Given the description of an element on the screen output the (x, y) to click on. 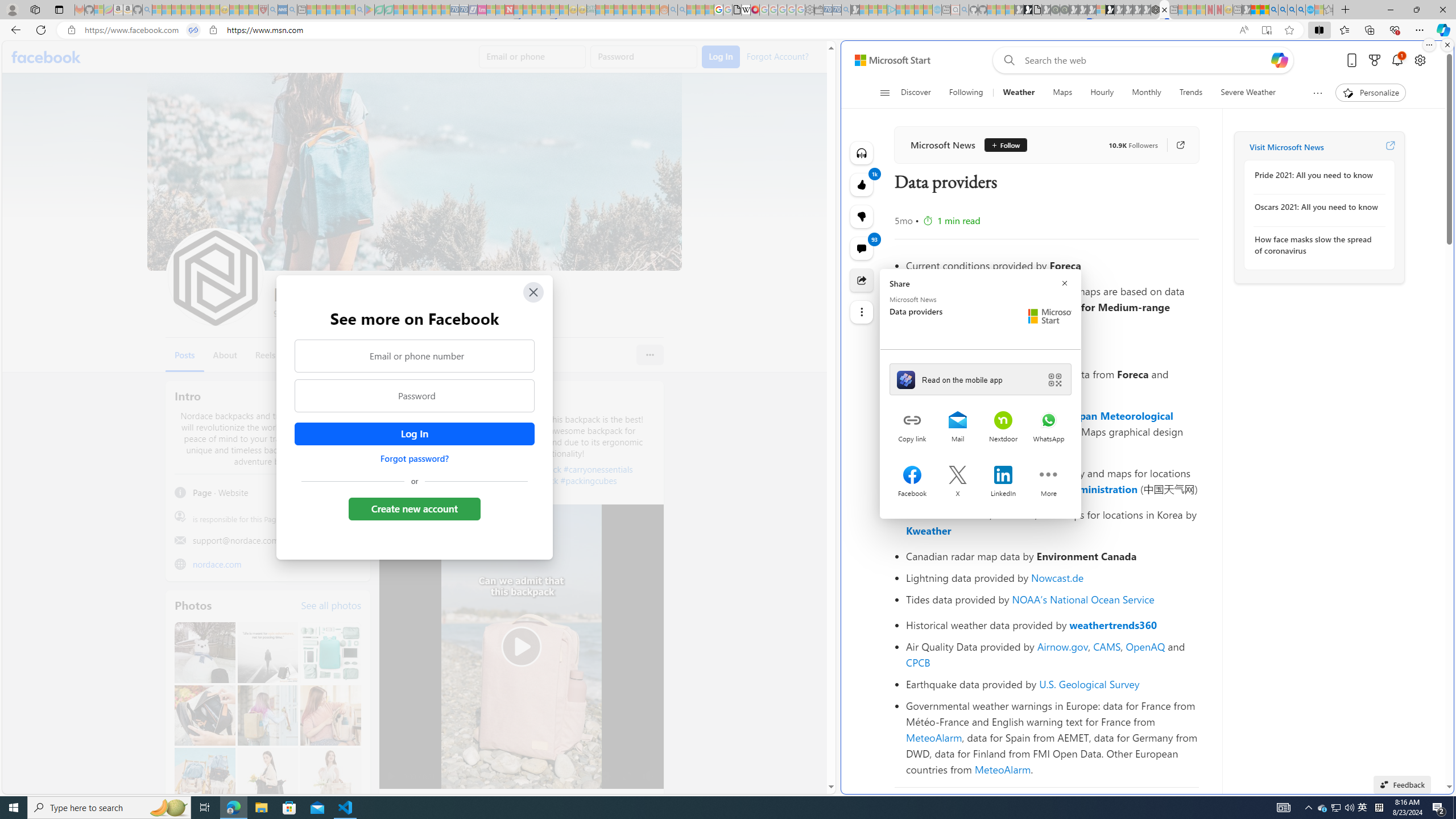
Visit Microsoft News website (1390, 146)
2009 Bing officially replaced Live Search on June 3 - Search (1283, 9)
utah sues federal government - Search - Sleeping (291, 9)
CPCB (917, 662)
How face masks slow the spread of coronavirus (1316, 244)
Facebook (46, 56)
